Given the description of an element on the screen output the (x, y) to click on. 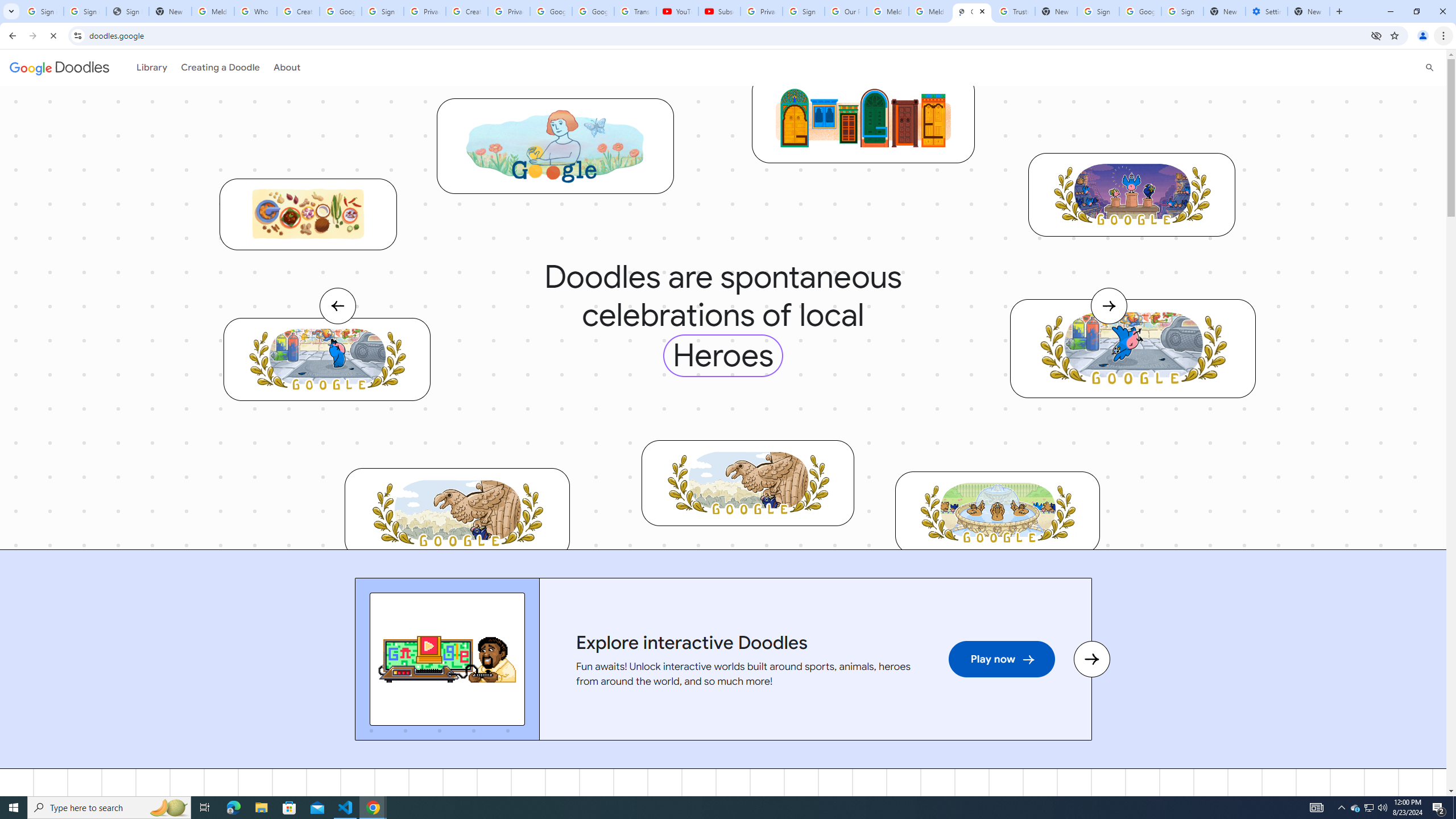
Google doodles (59, 67)
Google Account (592, 11)
Sign in - Google Accounts (85, 11)
YouTube (676, 11)
Creating a Doodle (216, 67)
Sign in - Google Accounts (382, 11)
